Given the description of an element on the screen output the (x, y) to click on. 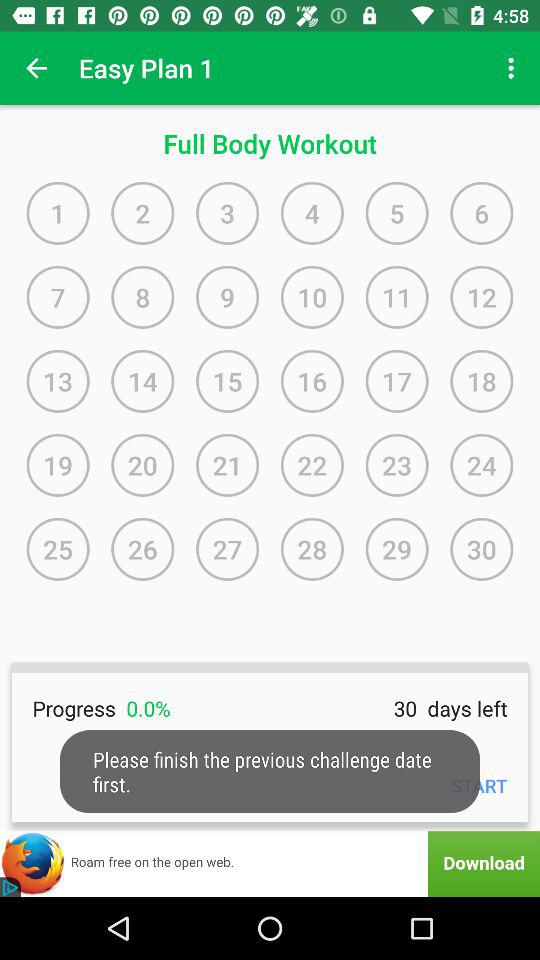
advertisement for firefox (270, 864)
